Given the description of an element on the screen output the (x, y) to click on. 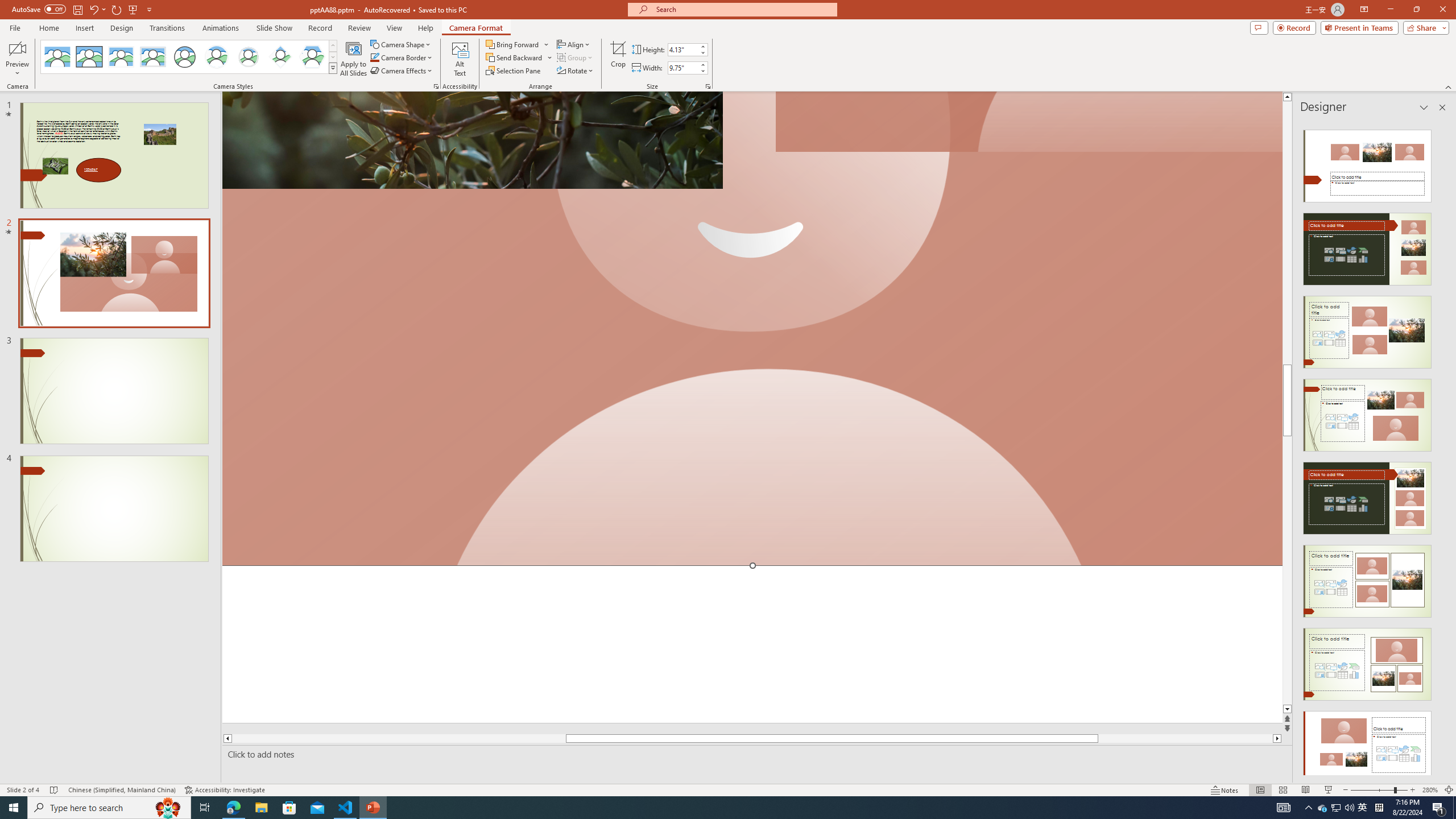
Camera 13, No camera detected. (752, 328)
Less (702, 70)
Camera Shape (400, 44)
Center Shadow Circle (216, 56)
Bring Forward (513, 44)
